Given the description of an element on the screen output the (x, y) to click on. 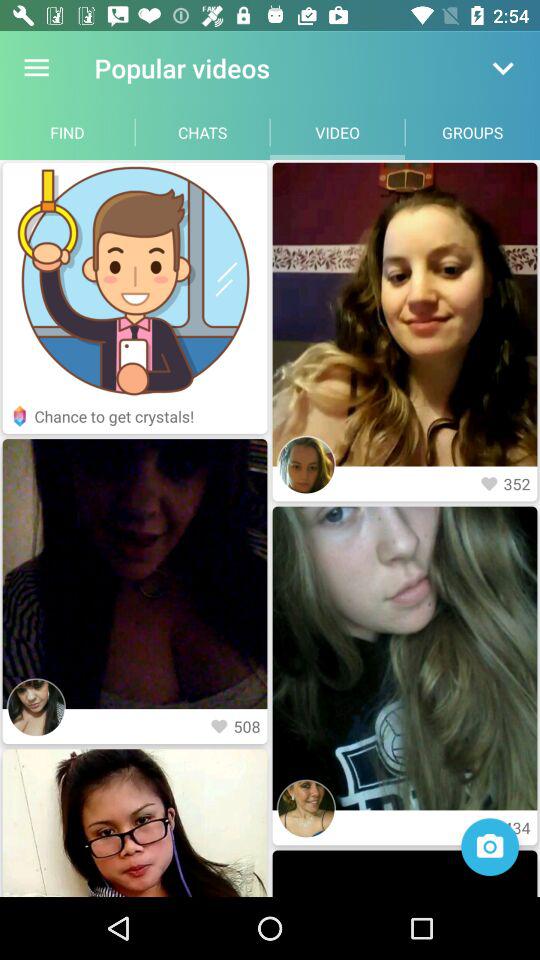
turn off icon to the left of the popular videos item (36, 68)
